Given the description of an element on the screen output the (x, y) to click on. 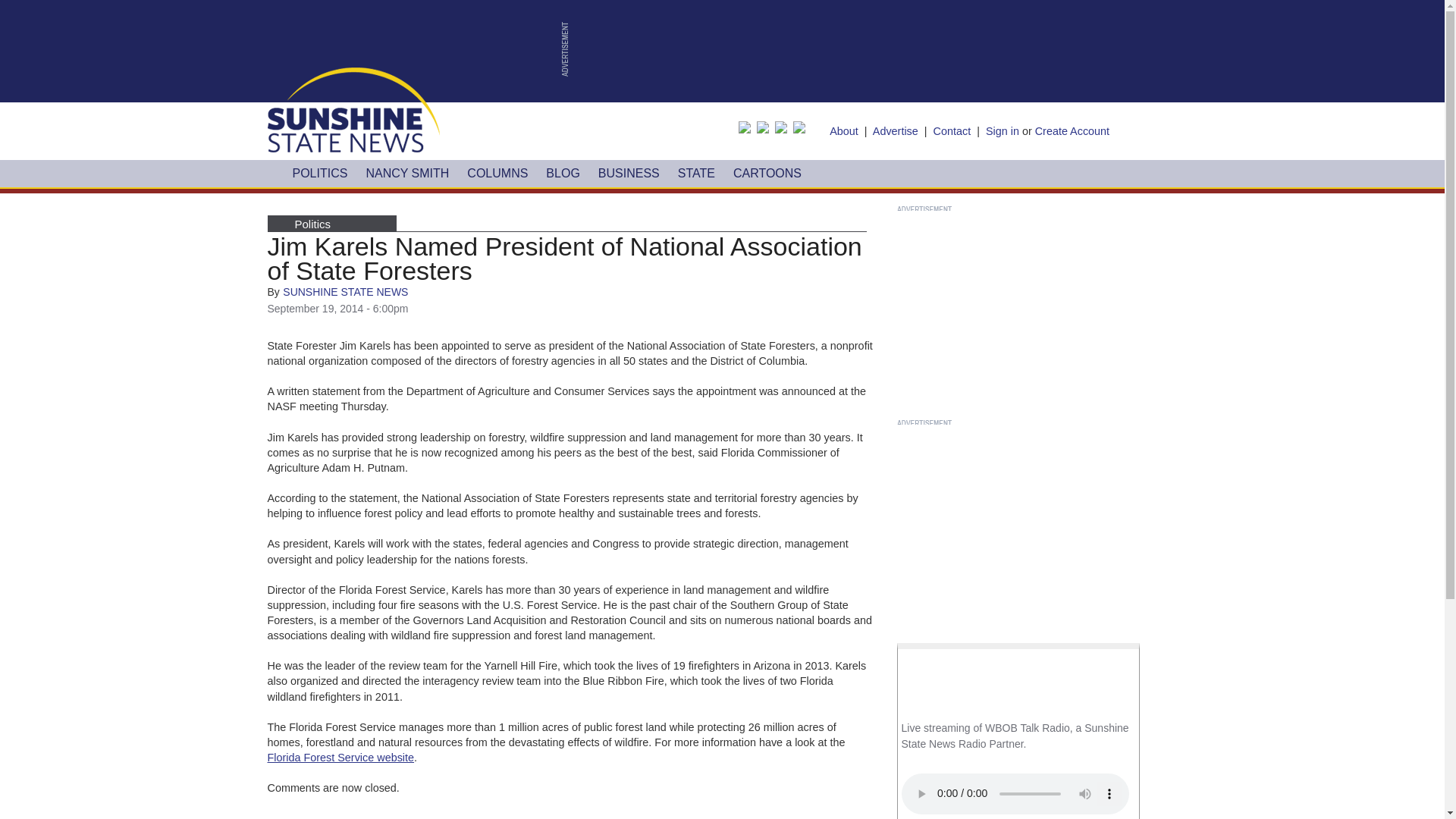
STATE (695, 173)
Advertise (895, 131)
SUNSHINE STATE NEWS (344, 291)
BLOG (562, 173)
SSN on Facebook (747, 129)
About (844, 131)
Sign in (1002, 131)
COLUMNS (497, 173)
CARTOONS (766, 173)
RSS Feed (801, 129)
SSN on Twitter (765, 129)
POLITICS (319, 173)
Home (352, 108)
NANCY SMITH (407, 173)
